Given the description of an element on the screen output the (x, y) to click on. 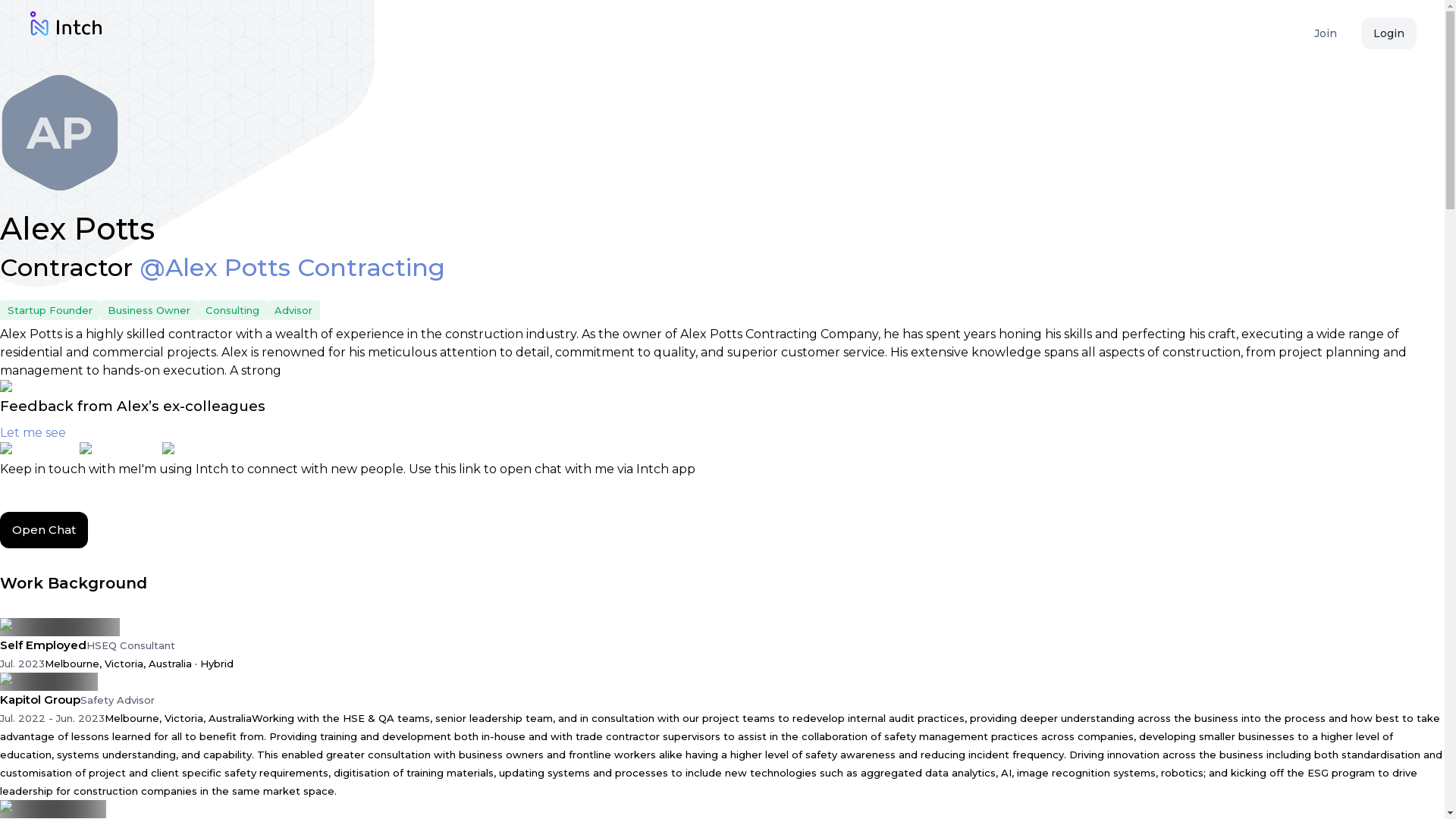
AP (59, 132)
Join (1325, 33)
Login (1388, 33)
Open Chat (43, 529)
Let me see (40, 432)
